Given the description of an element on the screen output the (x, y) to click on. 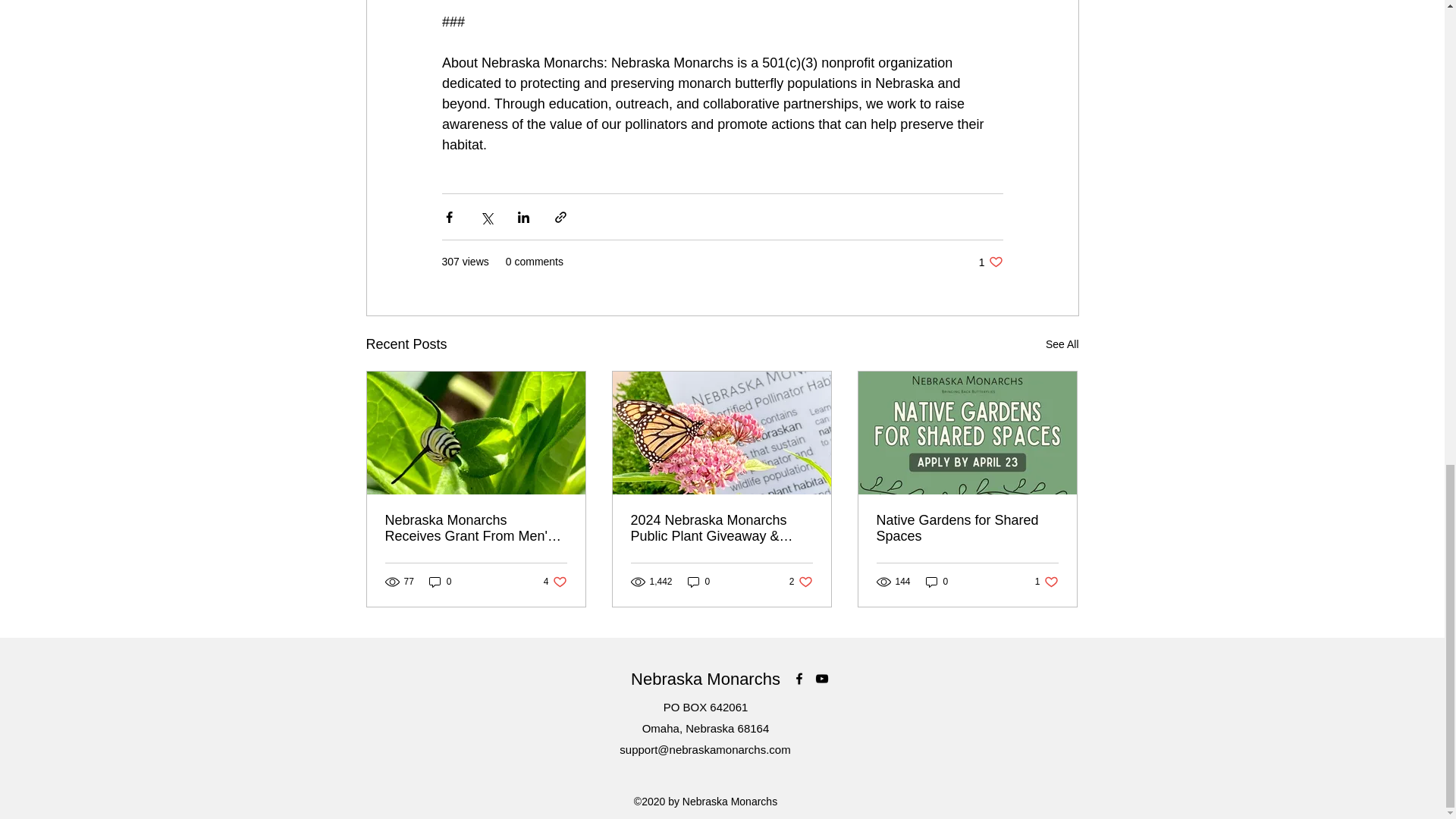
0 (440, 581)
See All (1061, 344)
0 (555, 581)
